Given the description of an element on the screen output the (x, y) to click on. 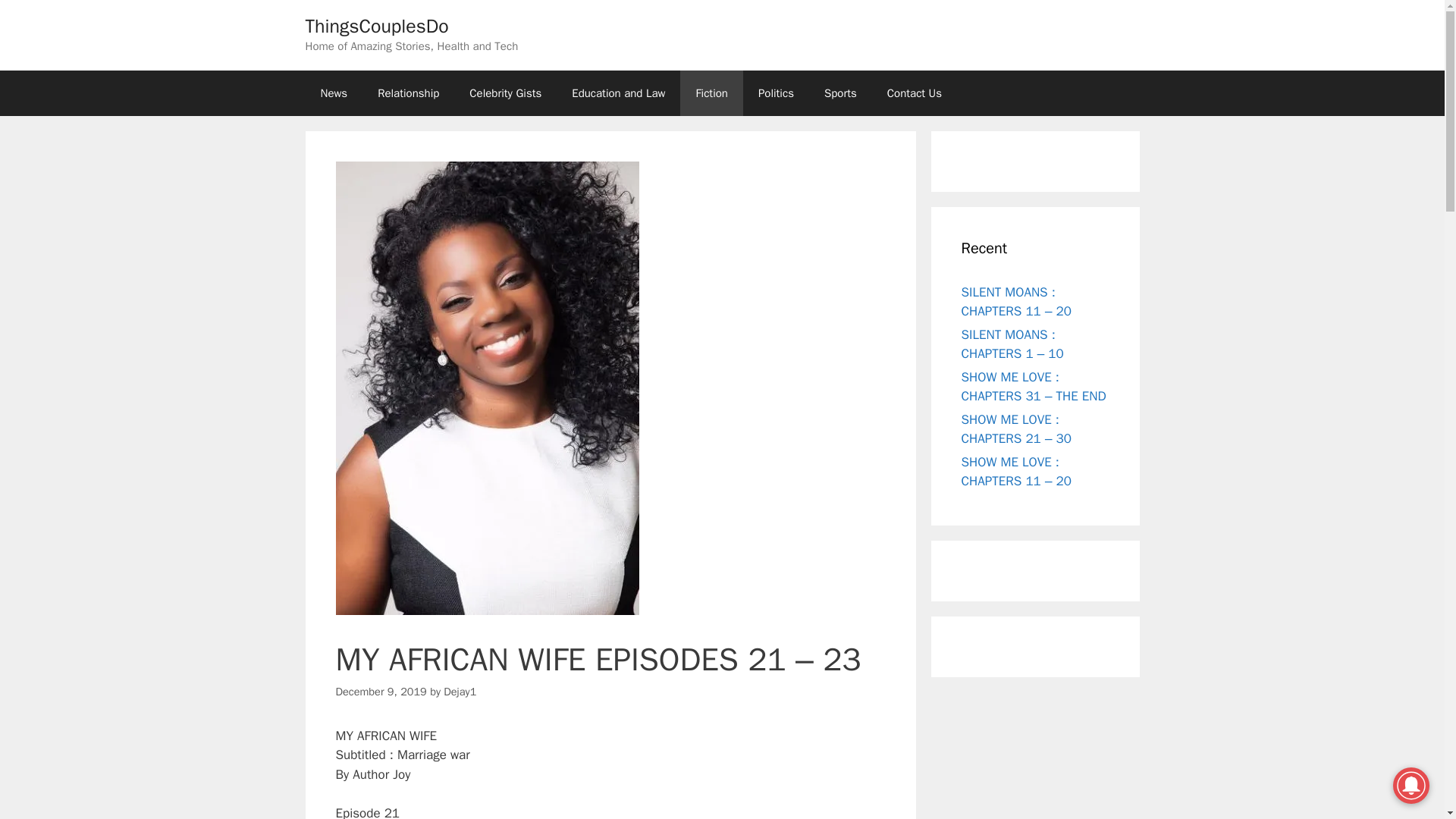
News (333, 92)
Relationship (408, 92)
ThingsCouplesDo (376, 25)
View all posts by Dejay1 (460, 691)
Contact Us (914, 92)
Education and Law (617, 92)
Fiction (710, 92)
Sports (840, 92)
Dejay1 (460, 691)
Politics (775, 92)
